Given the description of an element on the screen output the (x, y) to click on. 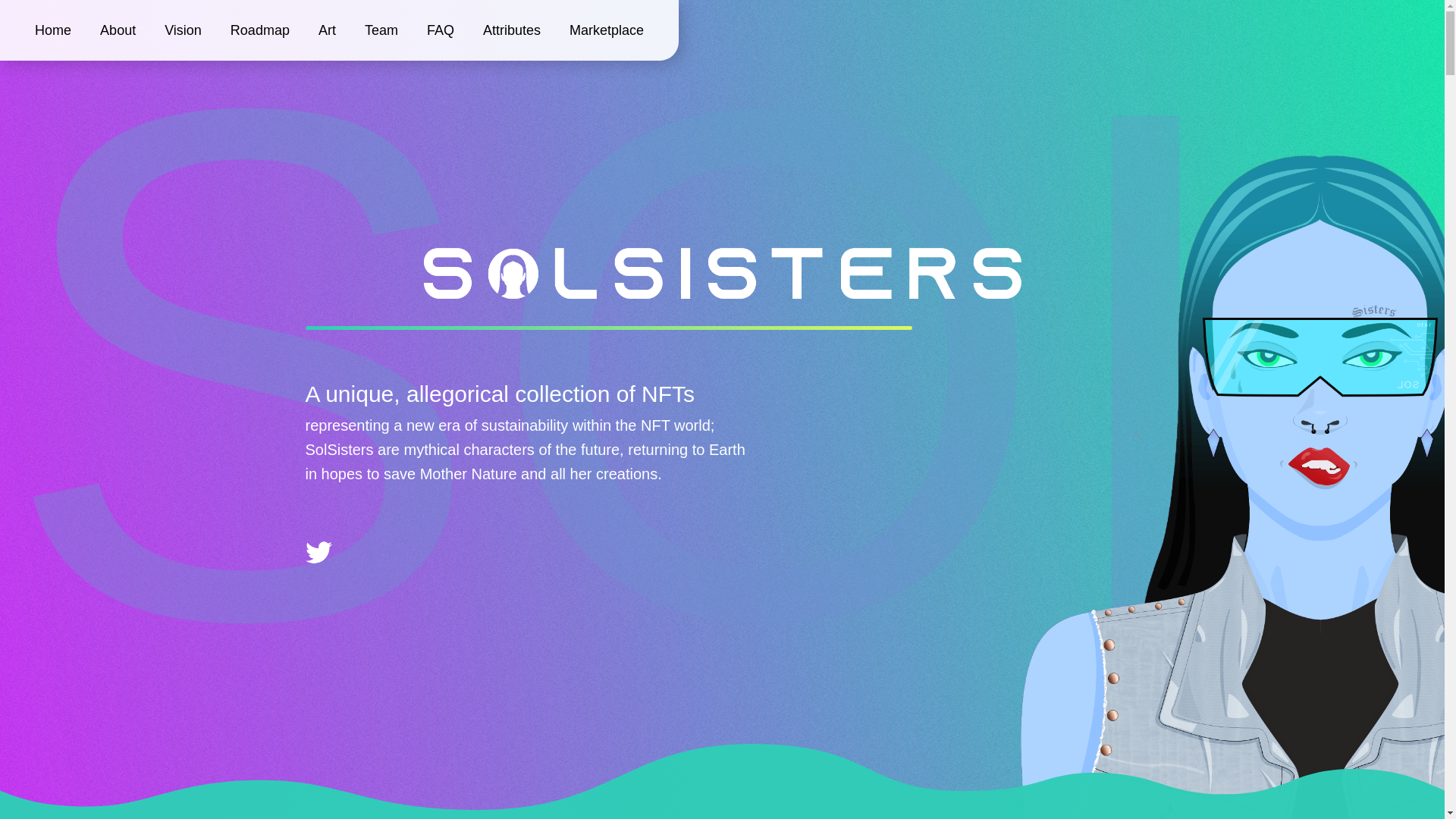
Home (53, 29)
Marketplace (606, 29)
About (117, 29)
Attributes (512, 29)
Vision (183, 29)
Team (381, 29)
Roadmap (259, 29)
Art (327, 29)
FAQ (440, 29)
